Given the description of an element on the screen output the (x, y) to click on. 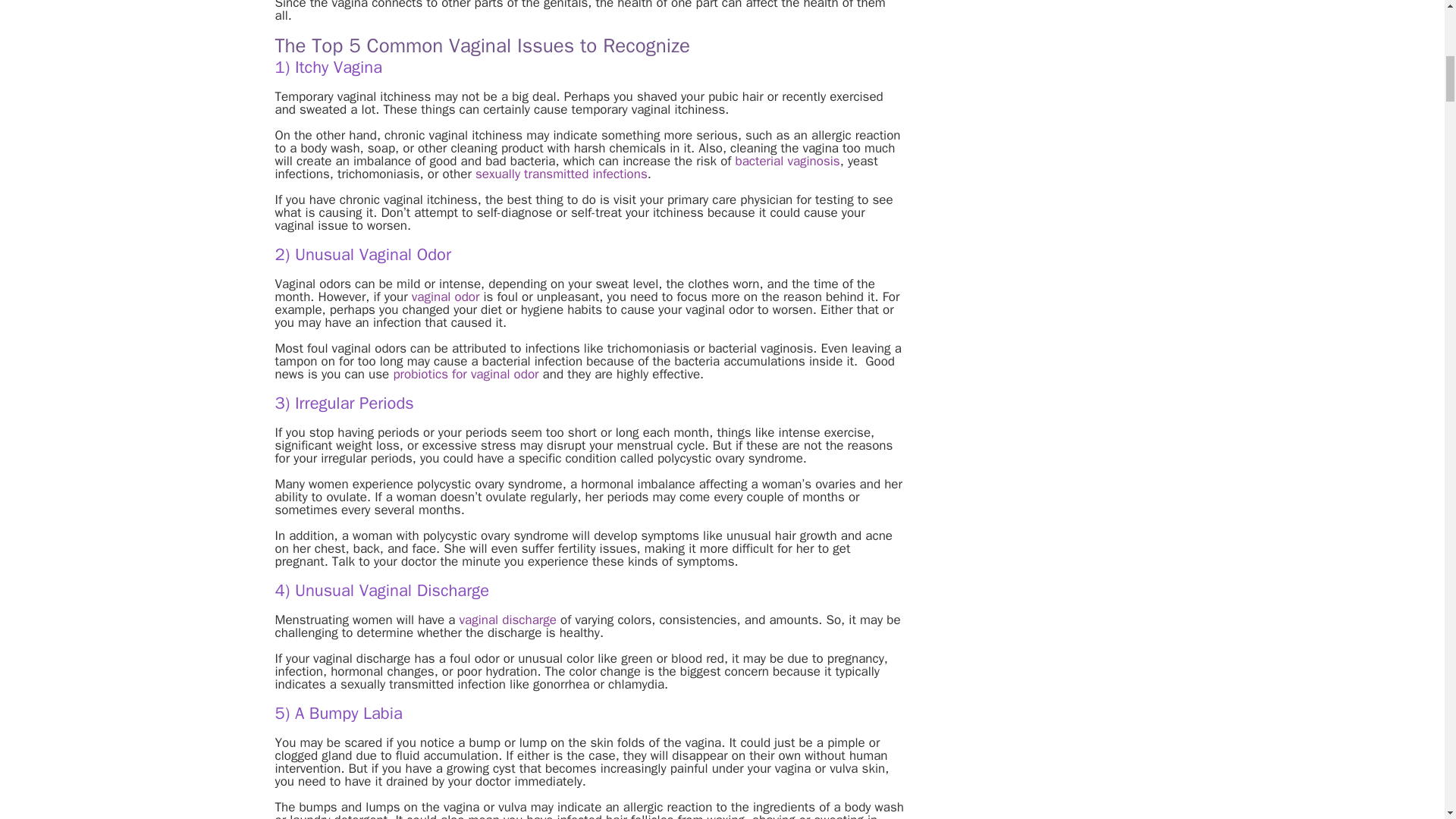
sexually transmitted infections (561, 173)
probiotics for vaginal odor (465, 374)
vaginal odor (446, 296)
vaginal discharge (508, 619)
bacterial vaginosis (787, 160)
